Given the description of an element on the screen output the (x, y) to click on. 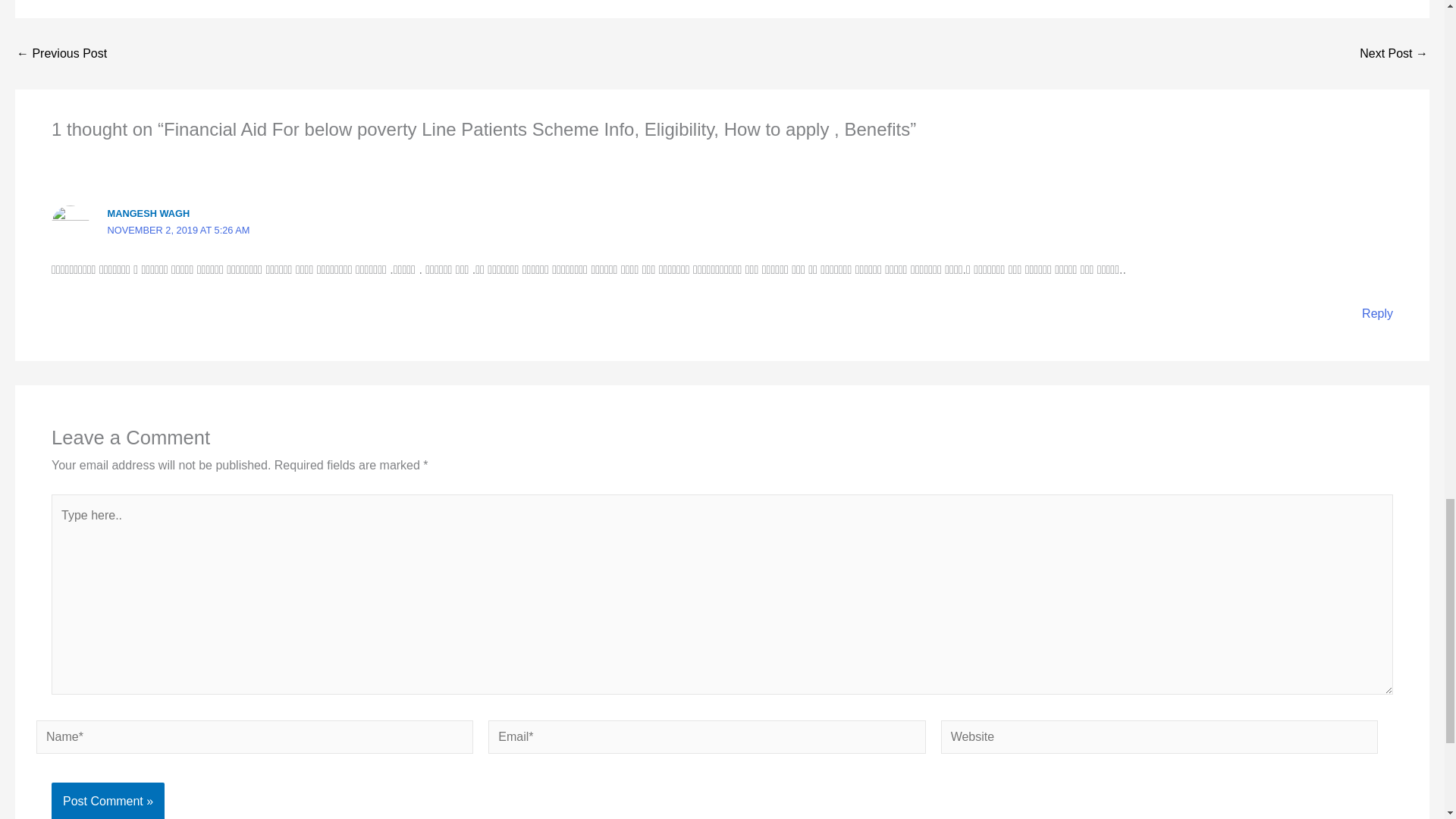
NOVEMBER 2, 2019 AT 5:26 AM (178, 229)
Reply (1377, 313)
